Given the description of an element on the screen output the (x, y) to click on. 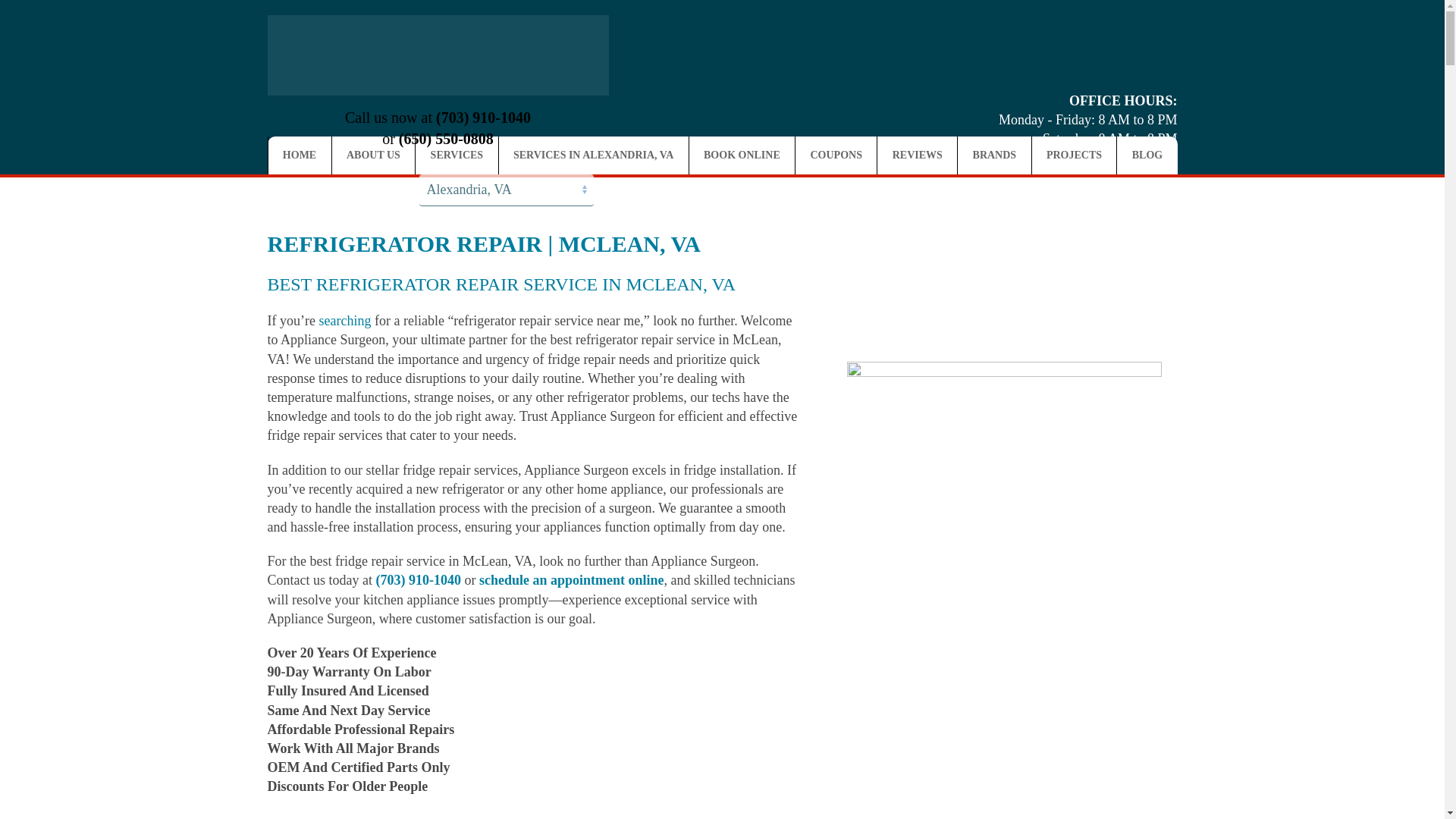
SERVICES IN ALEXANDRIA, VA (593, 155)
ABOUT US (373, 155)
SERVICES (456, 155)
HOME (299, 155)
